Given the description of an element on the screen output the (x, y) to click on. 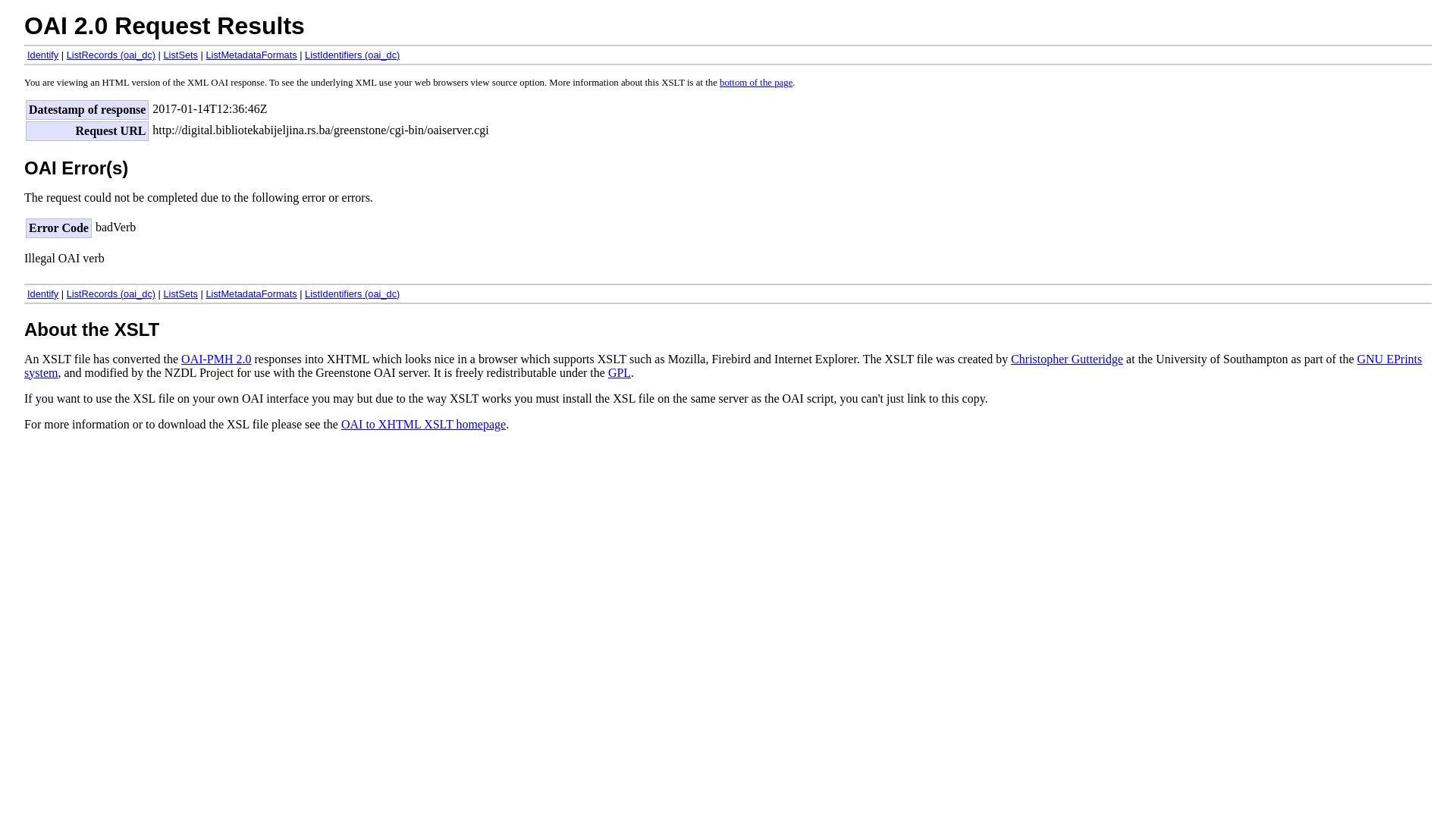
ListRecords (oai_dc) Element type: text (110, 293)
ListMetadataFormats Element type: text (250, 54)
bottom of the page Element type: text (755, 82)
Identify Element type: text (42, 54)
GPL Element type: text (619, 372)
OAI-PMH 2.0 Element type: text (216, 358)
ListRecords (oai_dc) Element type: text (110, 54)
GNU EPrints system Element type: text (722, 365)
Christopher Gutteridge Element type: text (1066, 358)
ListIdentifiers (oai_dc) Element type: text (351, 54)
Identify Element type: text (42, 293)
ListIdentifiers (oai_dc) Element type: text (351, 293)
OAI to XHTML XSLT homepage Element type: text (423, 423)
ListSets Element type: text (180, 54)
ListMetadataFormats Element type: text (250, 293)
About the XSLT Element type: text (91, 329)
ListSets Element type: text (180, 293)
